Given the description of an element on the screen output the (x, y) to click on. 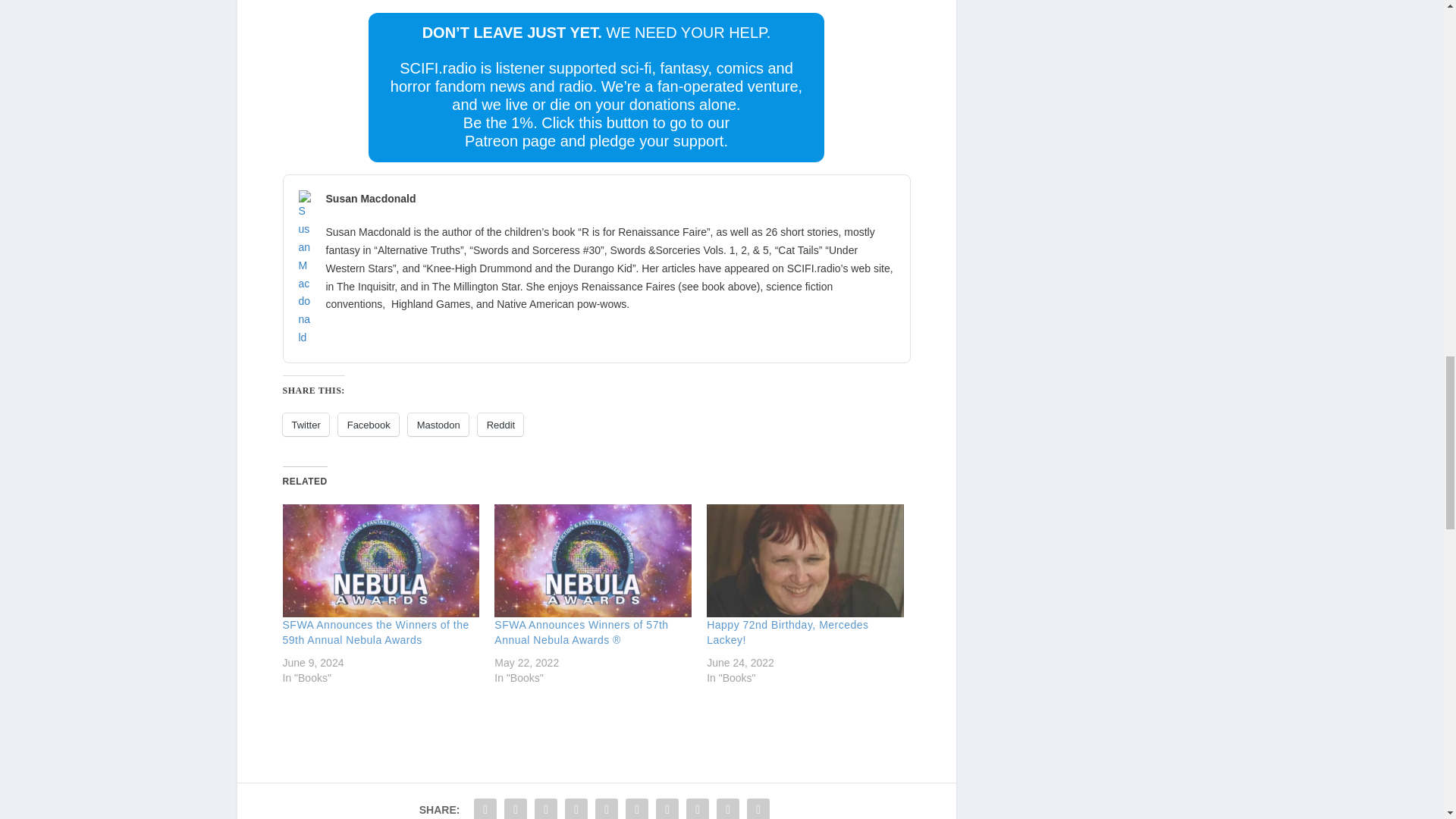
Click to share on Reddit (500, 424)
Click to share on Twitter (305, 424)
SFWA Announces the Winners of the 59th Annual Nebula Awards (380, 560)
Click to share on Mastodon (437, 424)
Click to share on Facebook (367, 424)
